Given the description of an element on the screen output the (x, y) to click on. 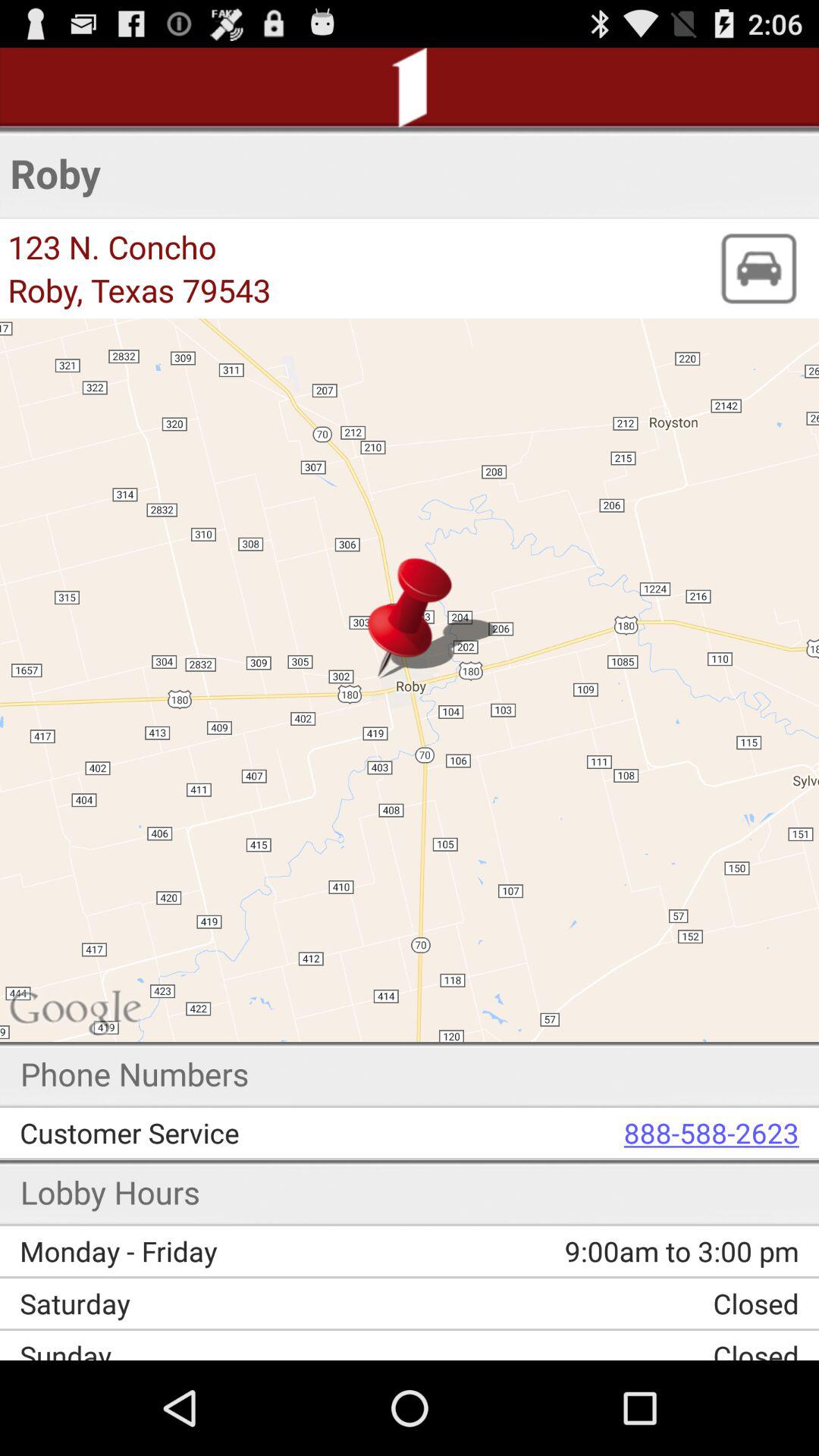
choose the app below phone numbers app (225, 1132)
